Given the description of an element on the screen output the (x, y) to click on. 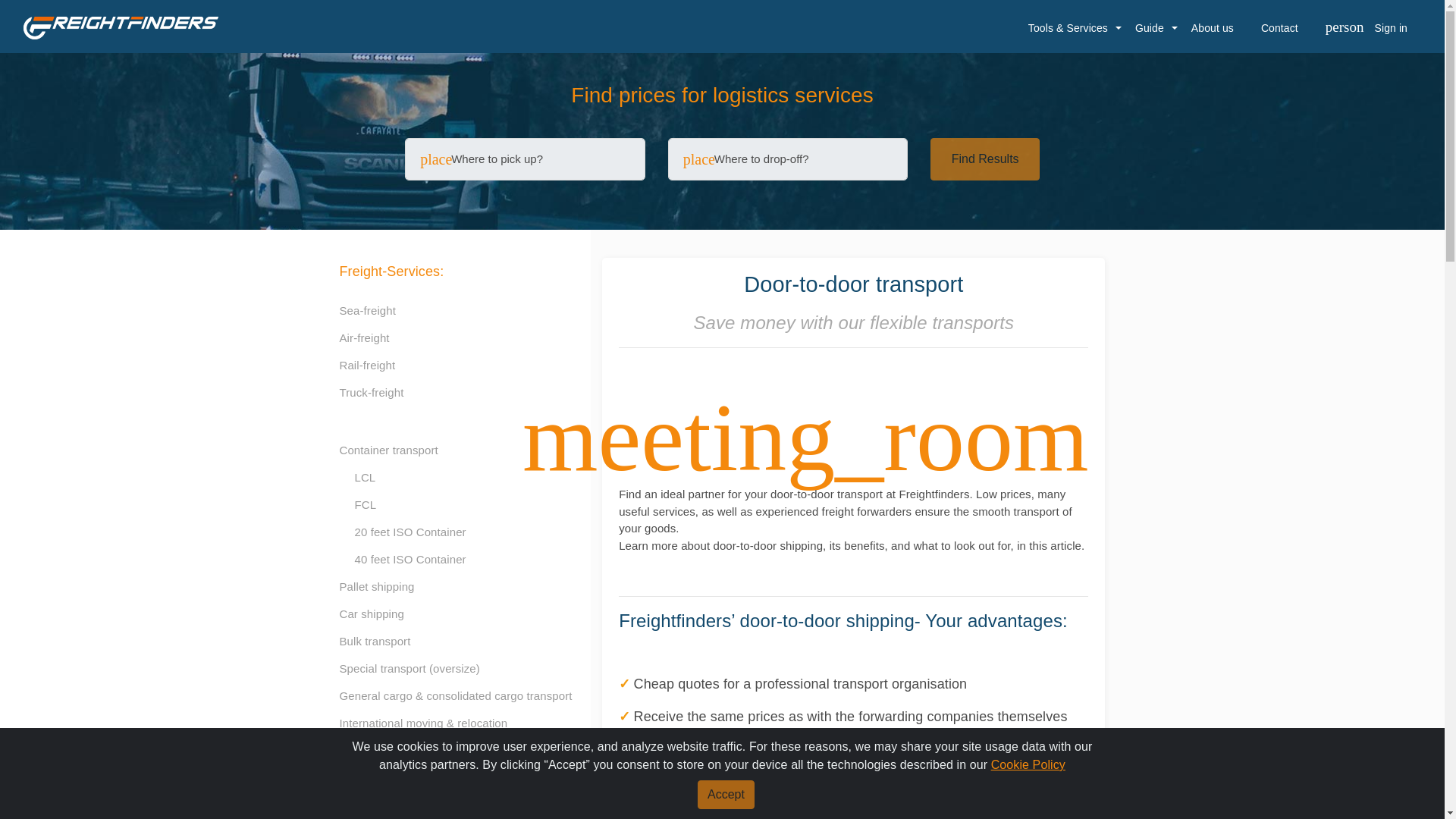
personSign in (1366, 28)
About us (1212, 28)
Login (1348, 270)
Guide (1149, 28)
Contact (1279, 28)
Find Results (984, 159)
